Given the description of an element on the screen output the (x, y) to click on. 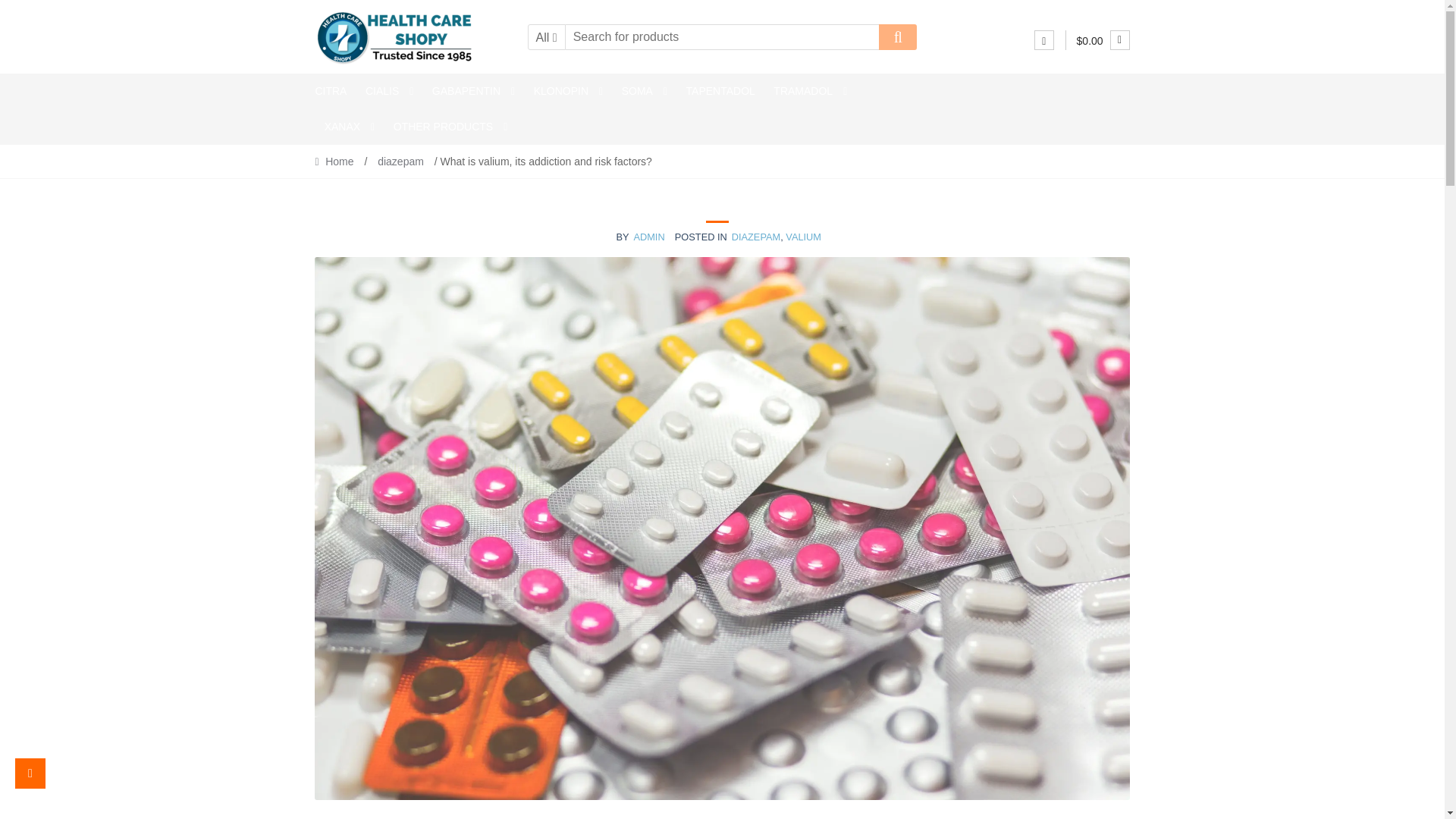
XANAX (349, 126)
TAPENTADOL (720, 90)
OTHER PRODUCTS (450, 126)
CITRA (334, 90)
TRAMADOL (810, 90)
SOMA (644, 90)
GABAPENTIN (473, 90)
Posts by admin (648, 236)
View your shopping cart (1103, 41)
KLONOPIN (567, 90)
